Given the description of an element on the screen output the (x, y) to click on. 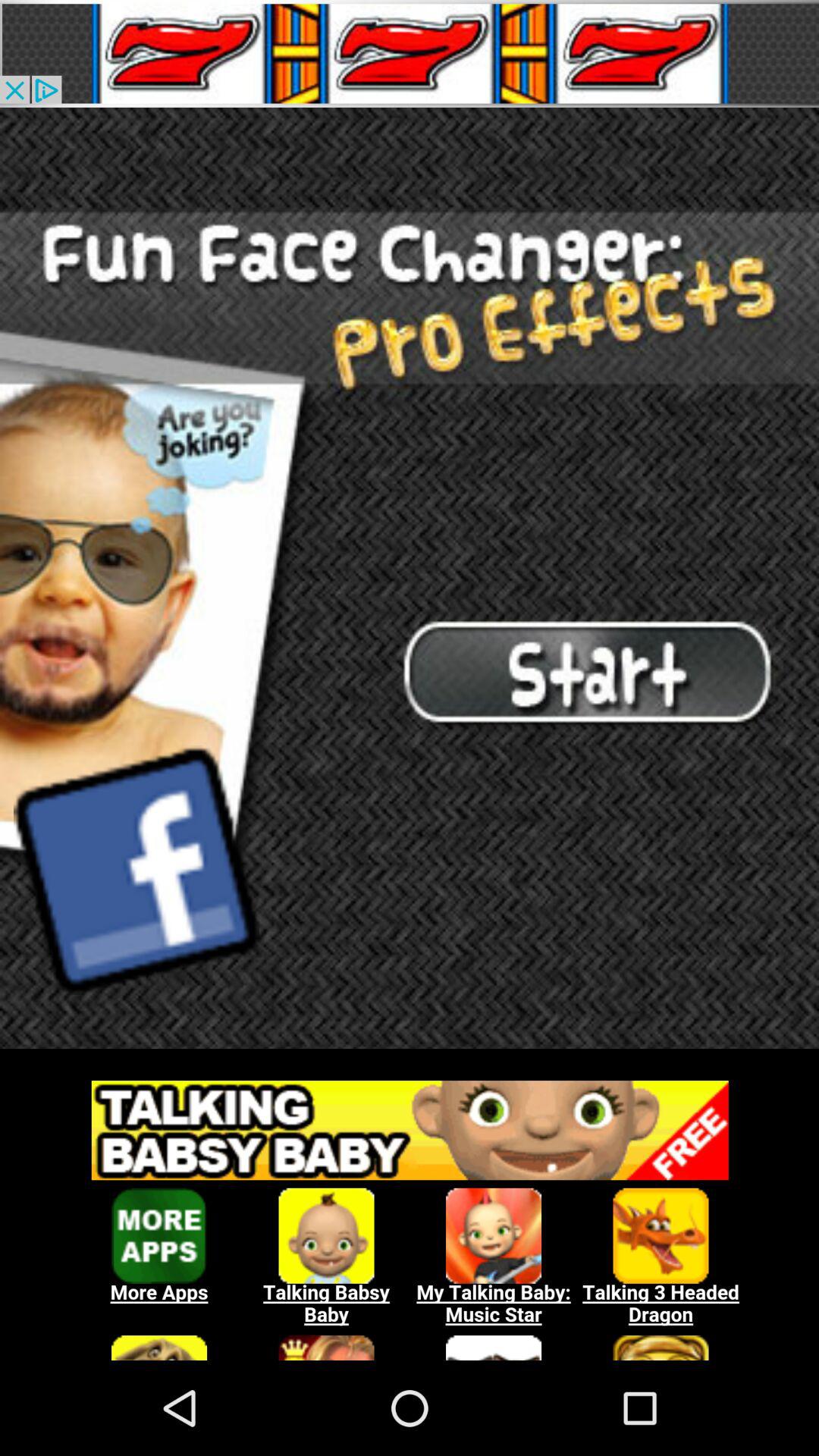
visit advertisement (409, 1212)
